Given the description of an element on the screen output the (x, y) to click on. 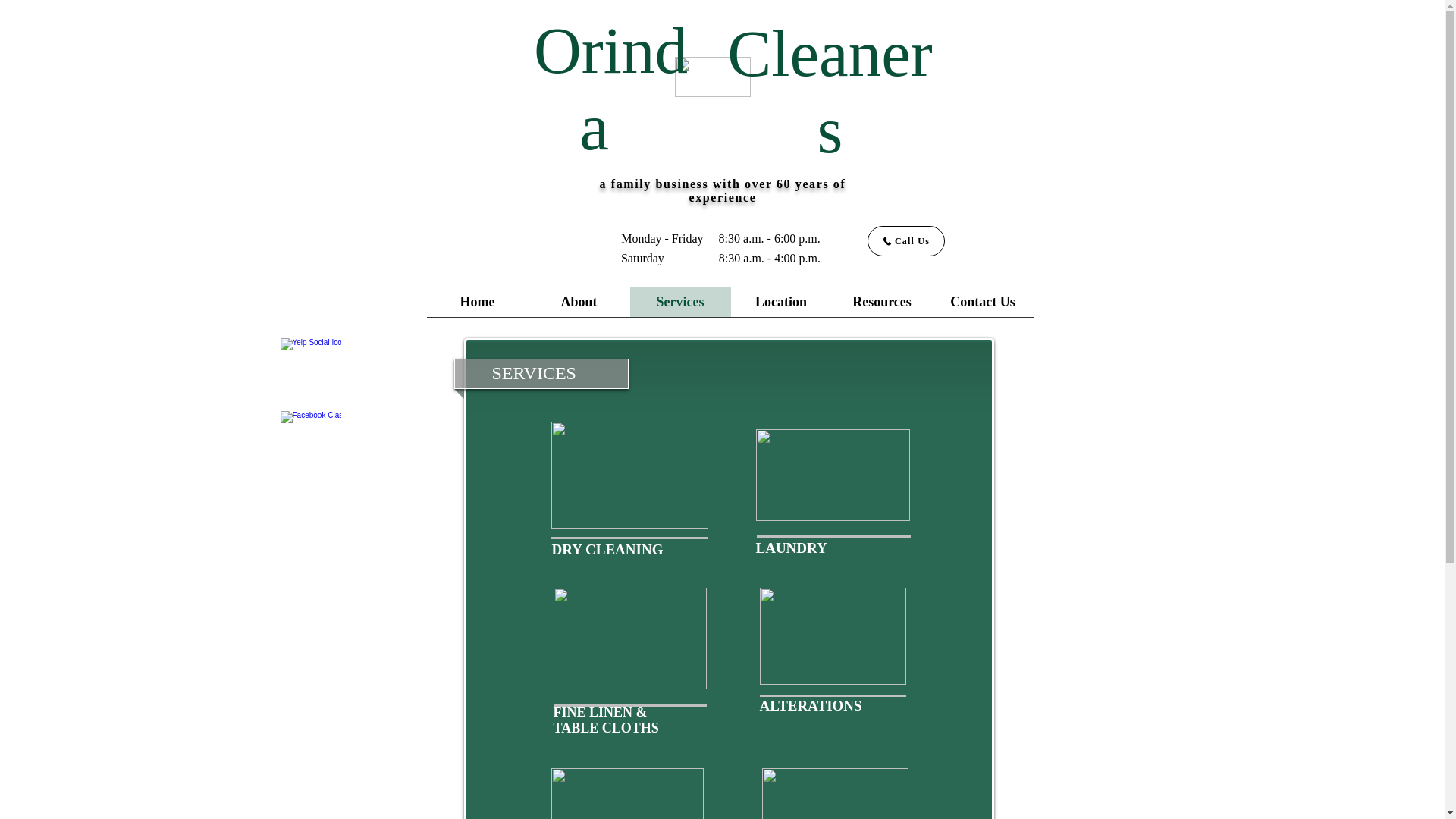
Cleaners (829, 91)
About (577, 301)
Call Us (905, 241)
Resources (881, 301)
Contact Us (983, 301)
Location (780, 301)
Services (679, 301)
Orinda   (610, 88)
Home (476, 301)
